Given the description of an element on the screen output the (x, y) to click on. 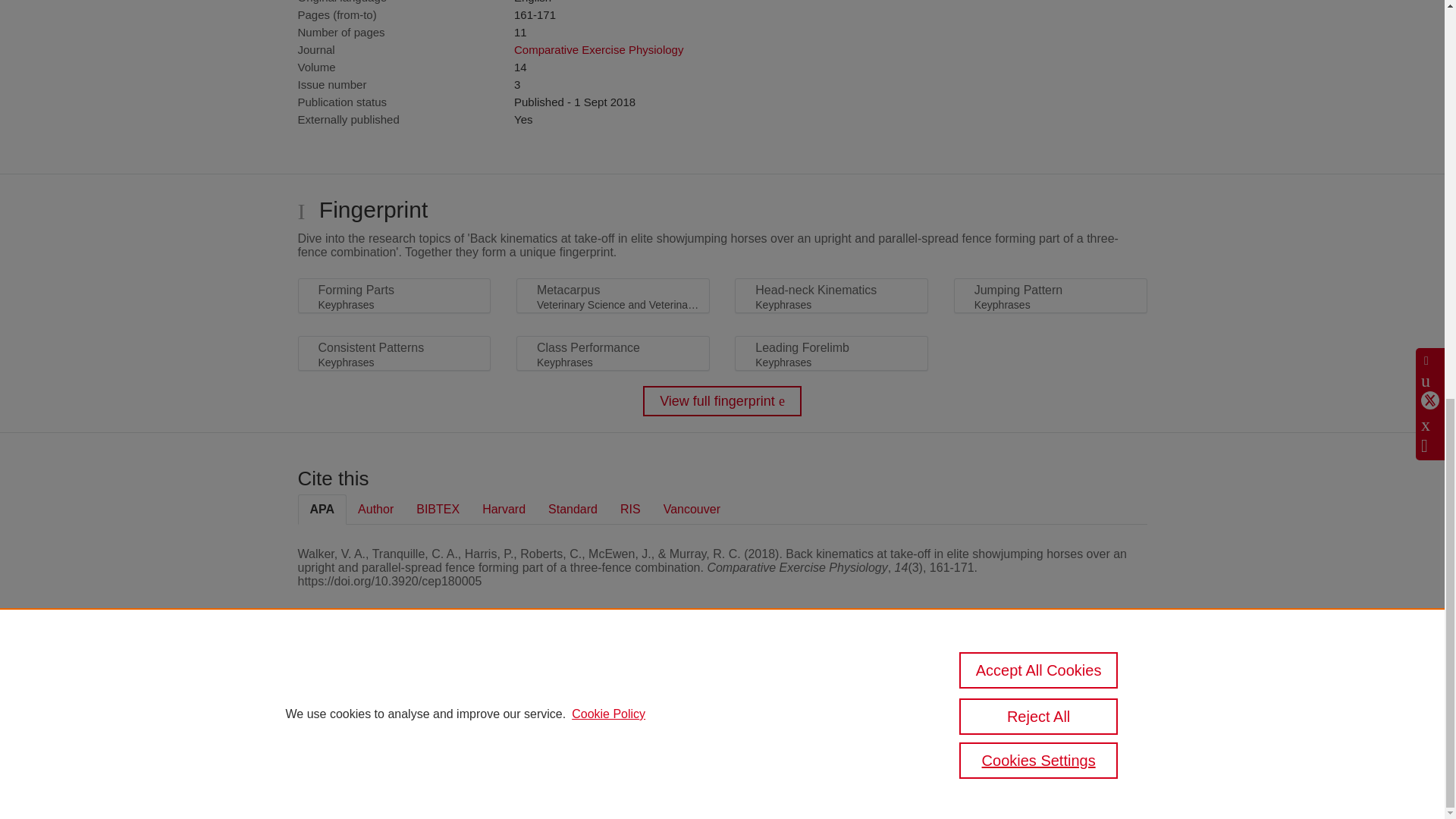
Comparative Exercise Physiology (597, 49)
View full fingerprint (722, 400)
Elsevier B.V. (506, 707)
Pure (362, 686)
use of cookies (796, 739)
Scopus (394, 686)
